Given the description of an element on the screen output the (x, y) to click on. 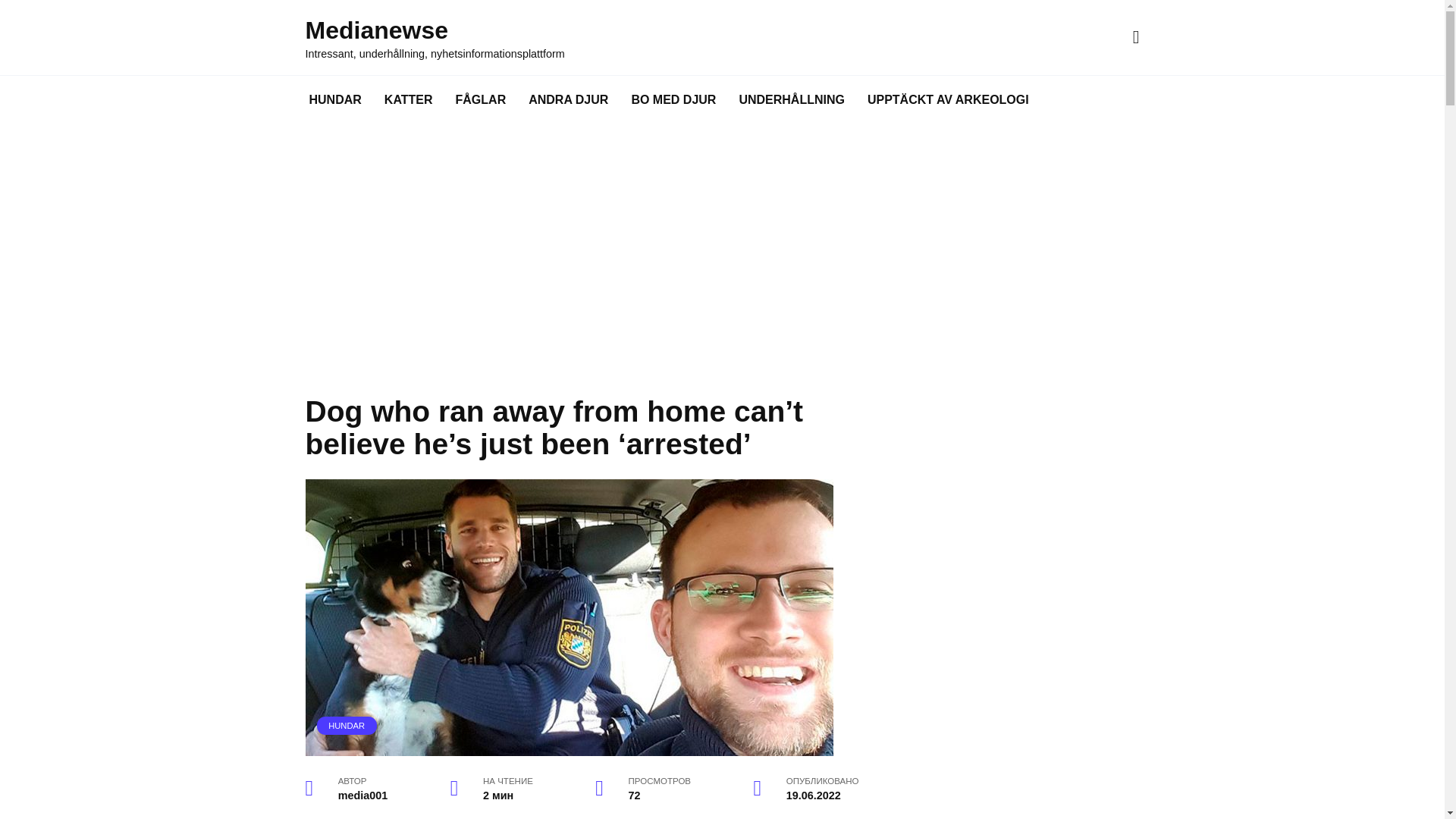
KATTER (408, 100)
HUNDAR (334, 100)
HUNDAR (347, 724)
BO MED DJUR (673, 100)
Medianewse (376, 30)
ANDRA DJUR (568, 100)
